Given the description of an element on the screen output the (x, y) to click on. 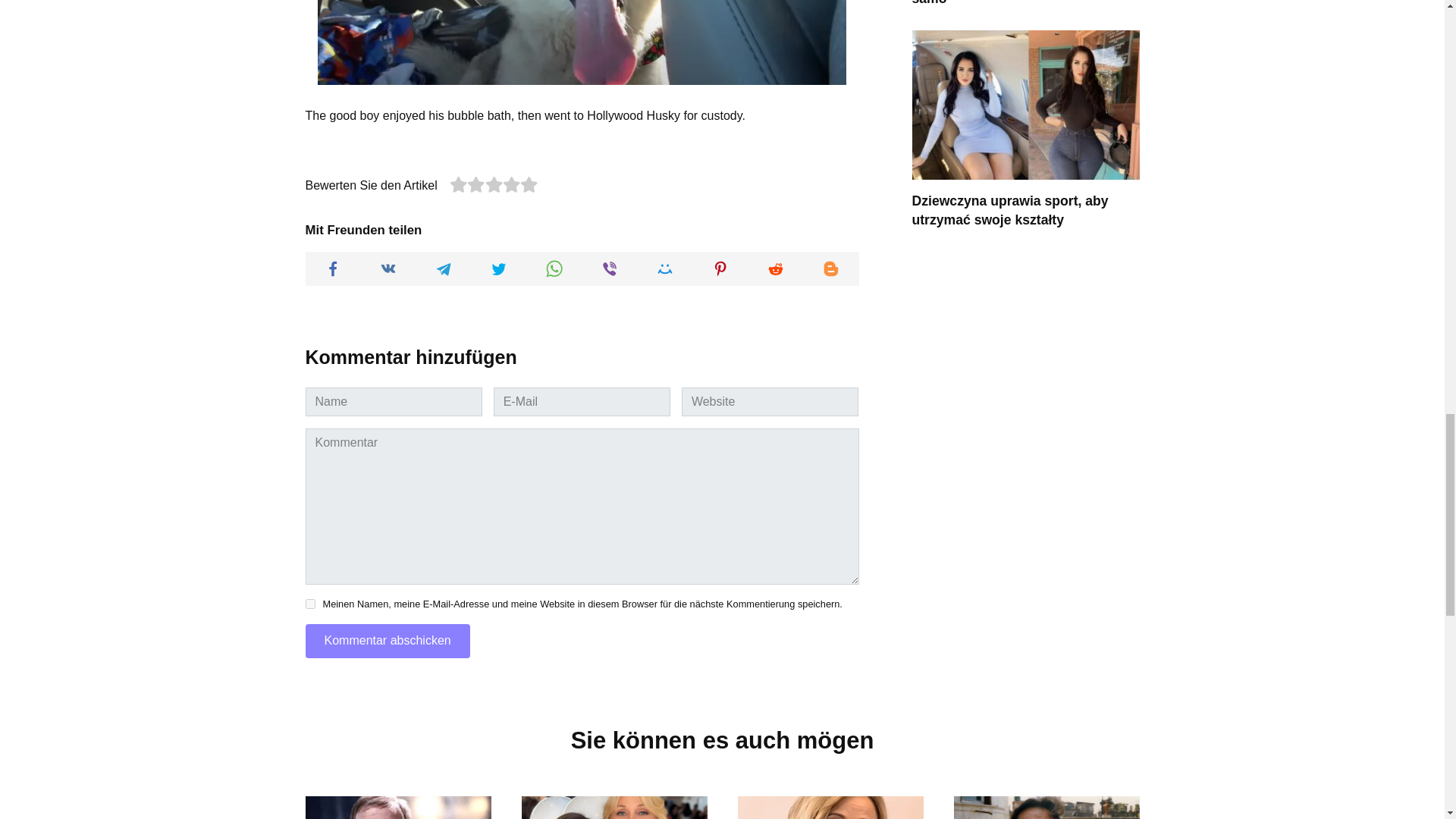
yes (309, 603)
Kommentar abschicken (386, 641)
Kommentar abschicken (386, 641)
